Given the description of an element on the screen output the (x, y) to click on. 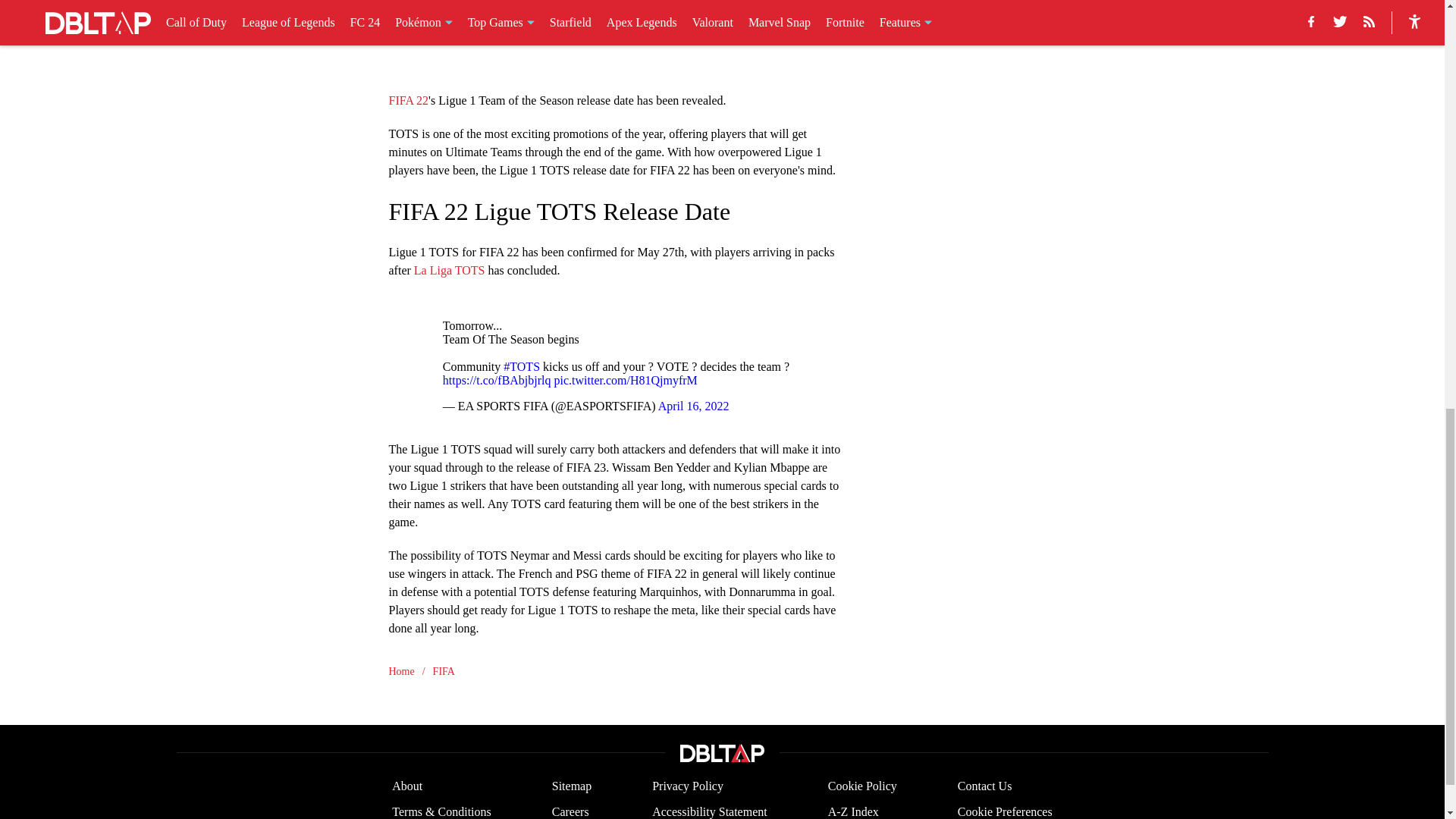
Home (400, 670)
April 16, 2022 (693, 405)
FIFA (443, 670)
FIFA 22 (408, 99)
About (406, 786)
La Liga TOTS (448, 269)
